Given the description of an element on the screen output the (x, y) to click on. 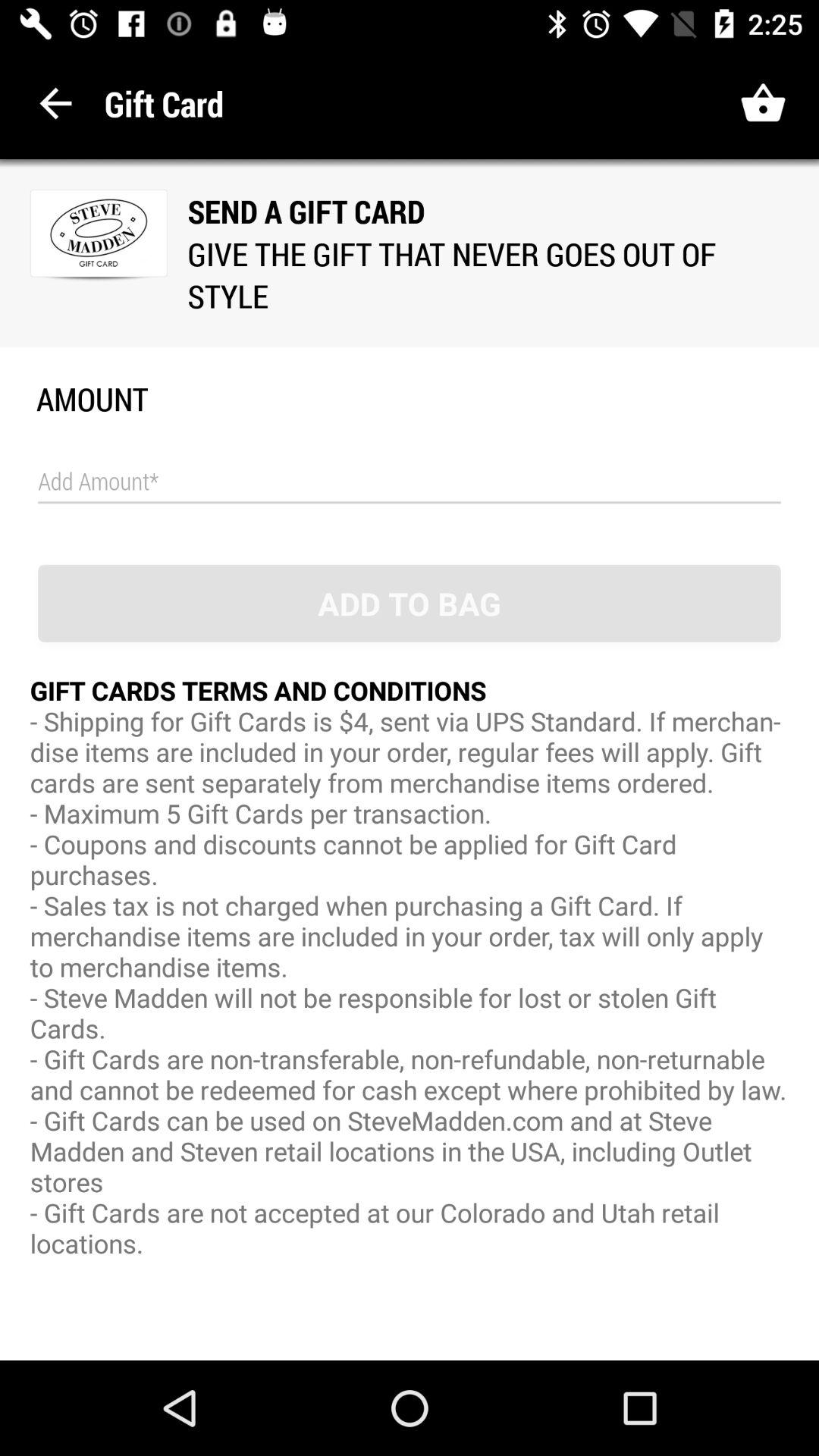
turn off the icon below amount icon (409, 482)
